Given the description of an element on the screen output the (x, y) to click on. 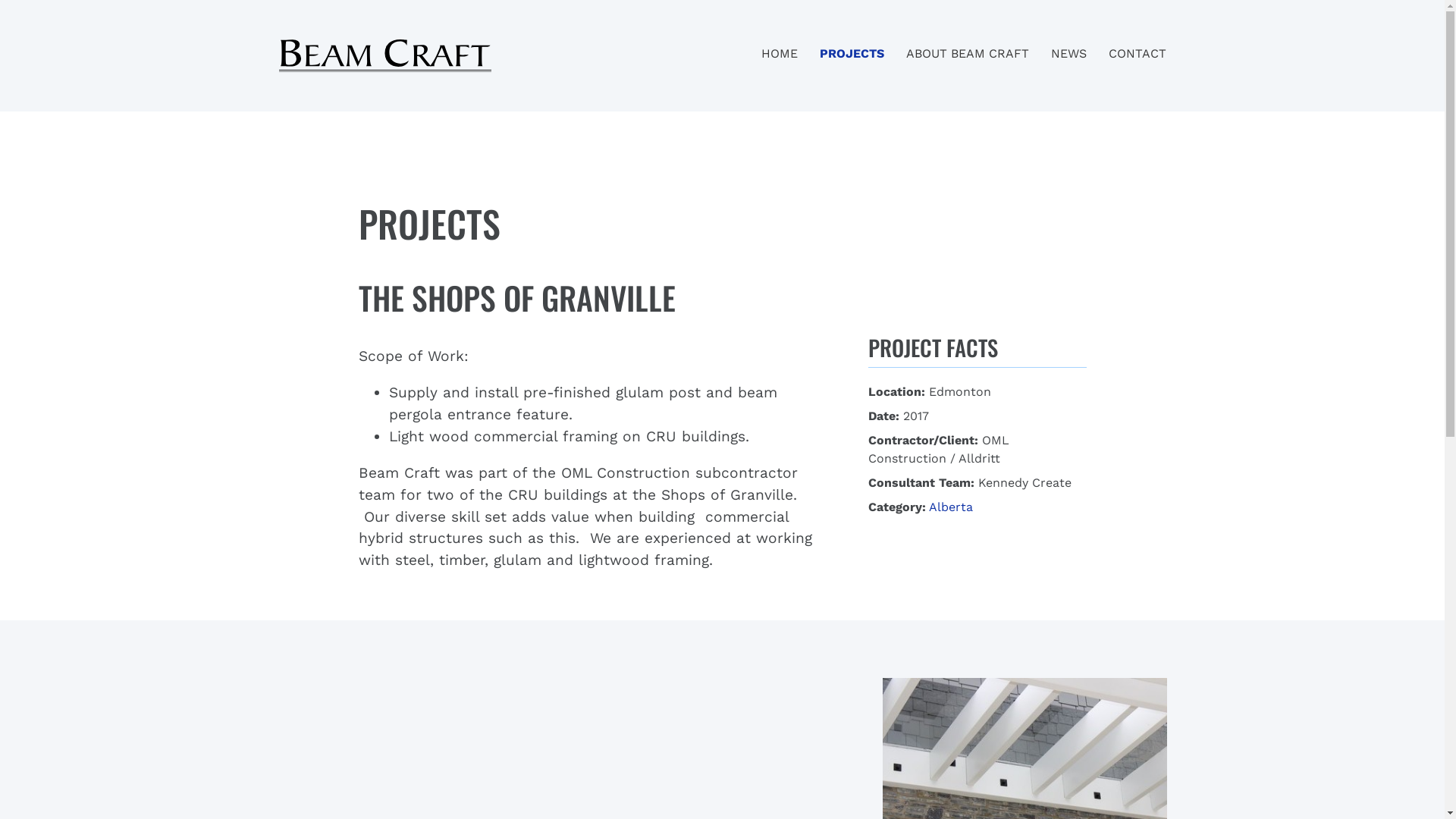
PROJECTS Element type: text (851, 53)
NEWS Element type: text (1068, 53)
HOME Element type: text (779, 53)
CONTACT Element type: text (1137, 53)
ABOUT BEAM CRAFT Element type: text (966, 53)
Alberta Element type: text (950, 506)
